Given the description of an element on the screen output the (x, y) to click on. 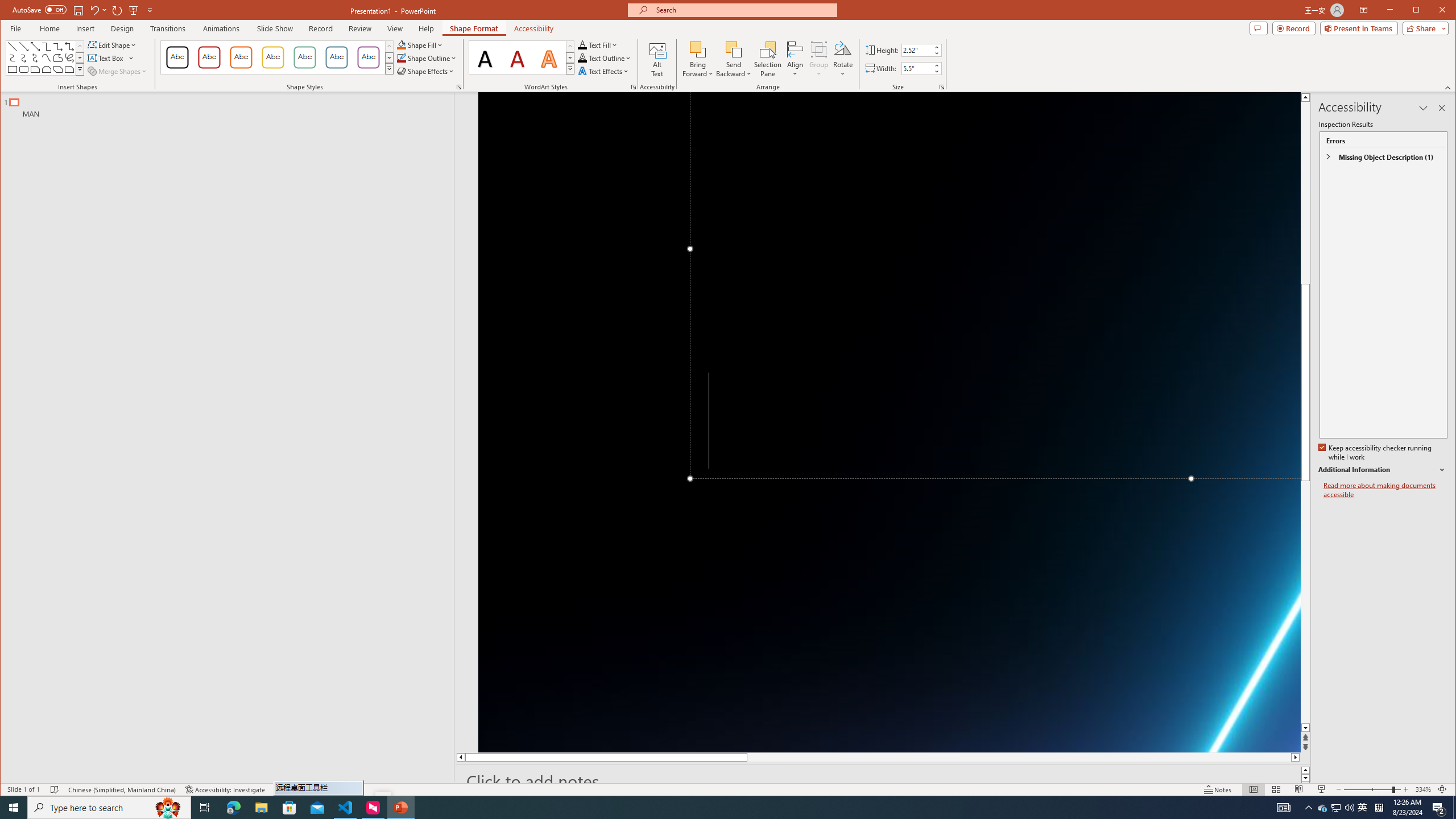
Zoom 334% (1422, 789)
Rectangle: Top Corners One Rounded and One Snipped (69, 69)
Text Fill (598, 44)
Text Outline RGB(0, 0, 0) (582, 57)
